Given the description of an element on the screen output the (x, y) to click on. 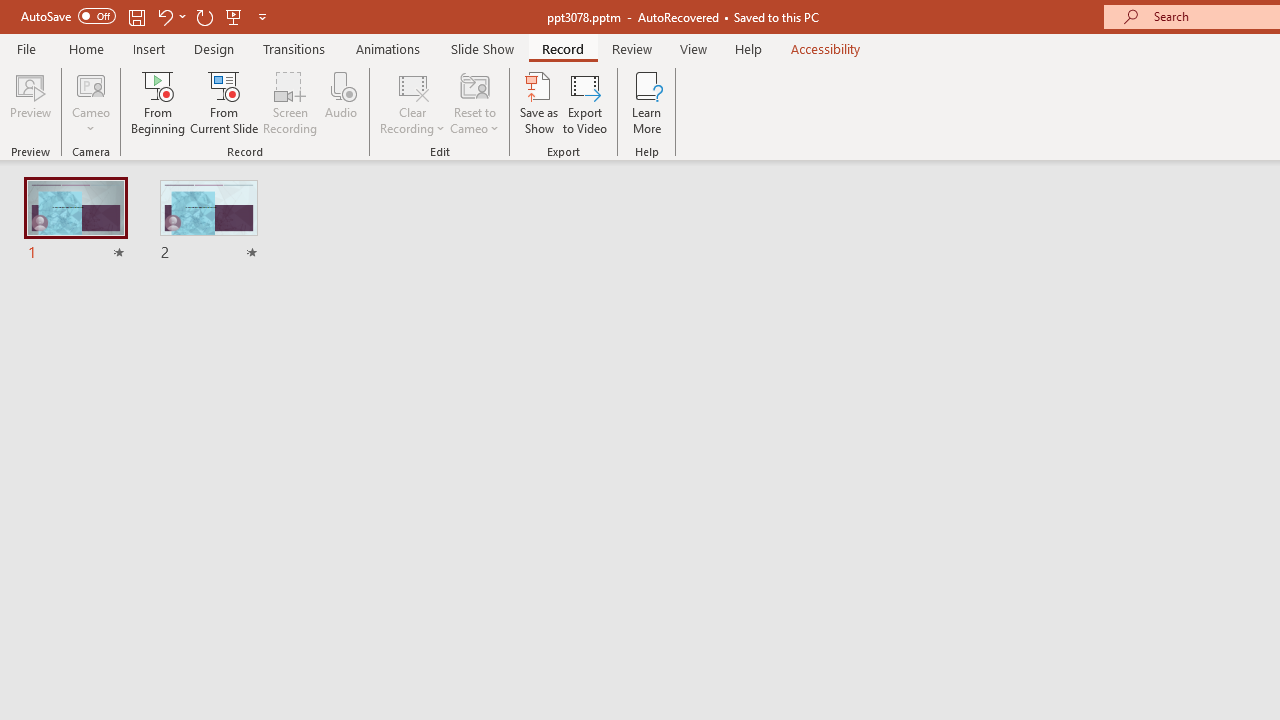
Reset to Cameo (474, 102)
From Current Slide... (224, 102)
